Given the description of an element on the screen output the (x, y) to click on. 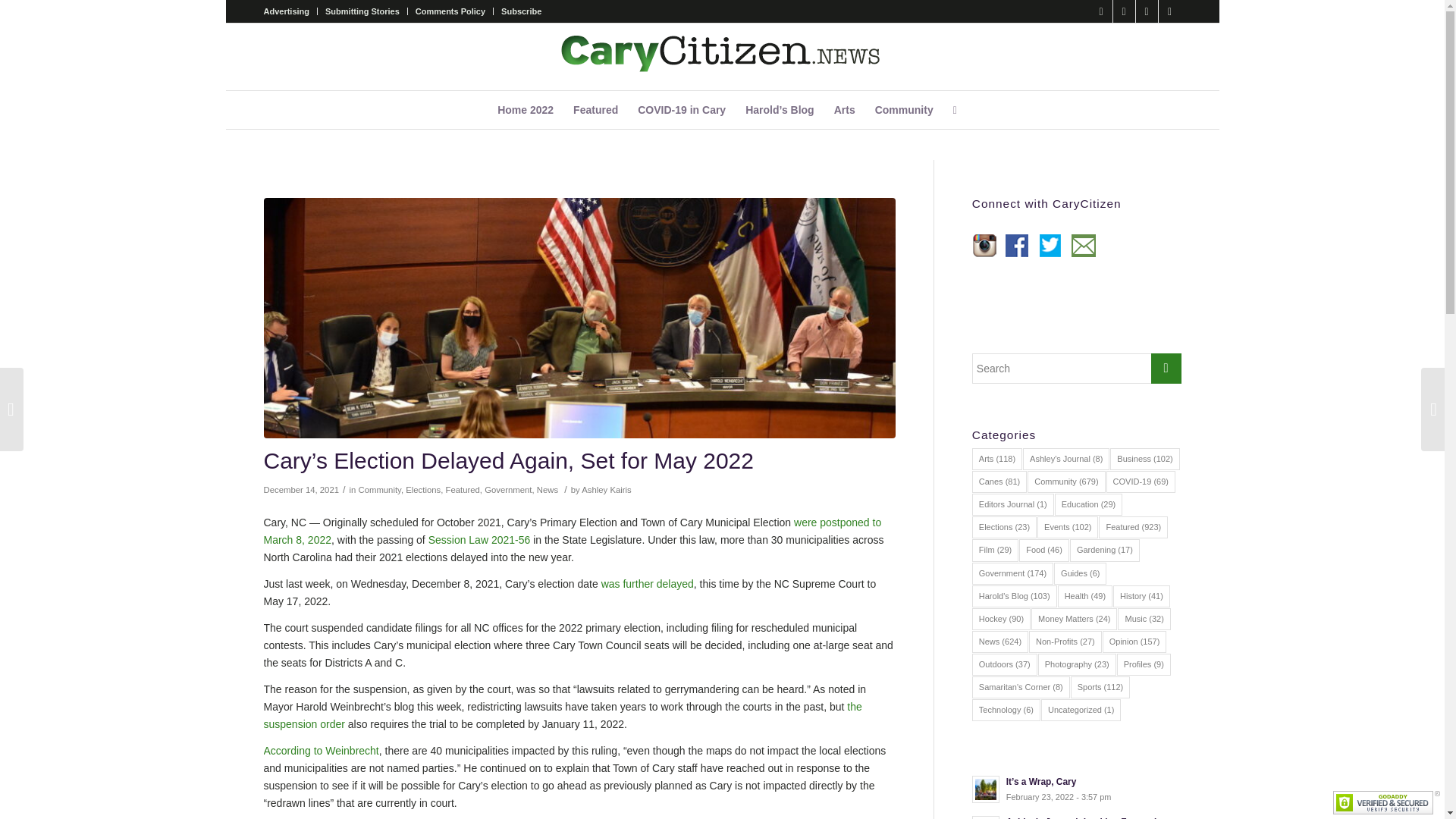
COVID-19 in Cary (681, 109)
Arts (844, 109)
Elections (423, 489)
Home 2022 (525, 109)
Featured (595, 109)
Posts by Ashley Kairis (605, 489)
Subscribe (520, 11)
Community (903, 109)
Comments Policy (449, 11)
Advertising (286, 11)
Community (379, 489)
Ashley Kairis (605, 489)
News (547, 489)
Government (507, 489)
